Given the description of an element on the screen output the (x, y) to click on. 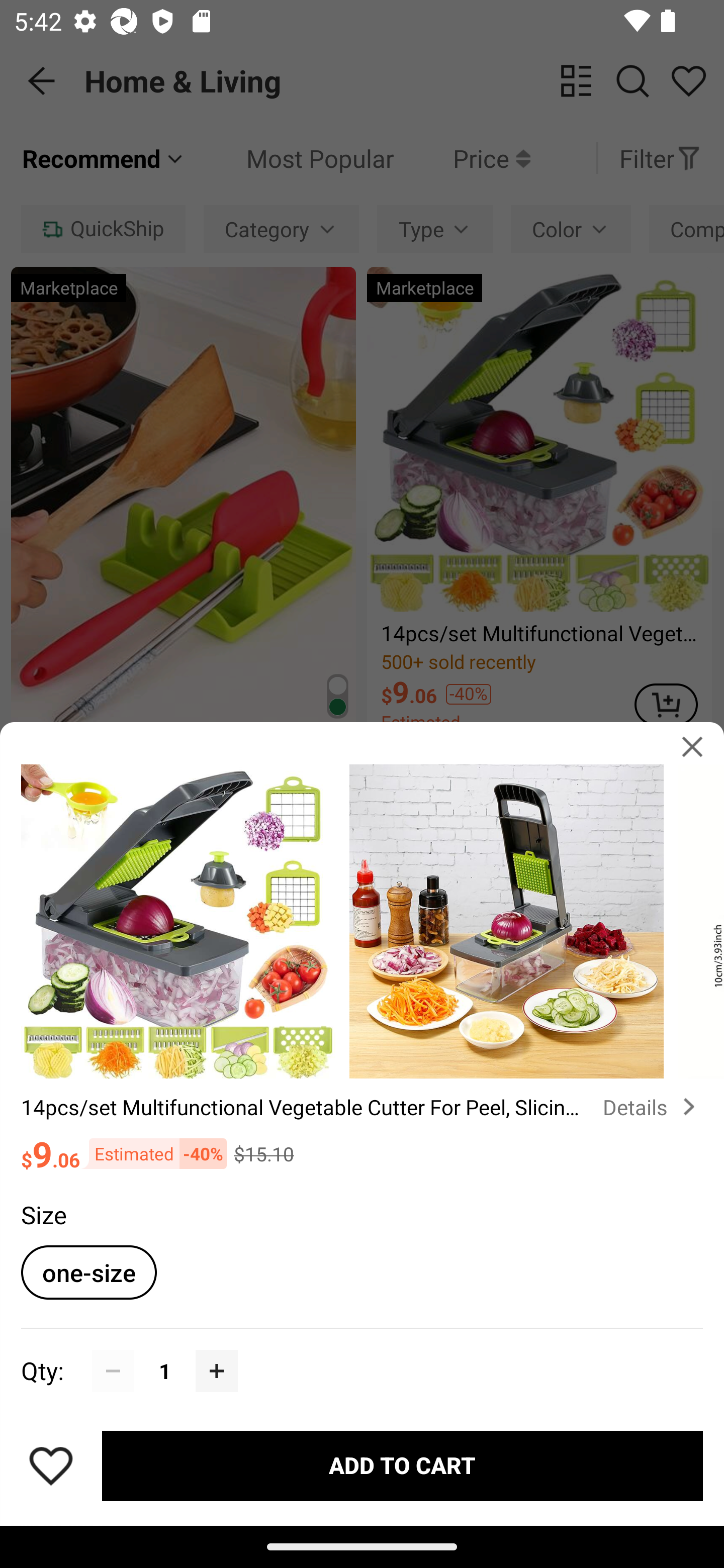
Details (653, 1106)
Estimated -40% (152, 1153)
Size (43, 1213)
one-size one-sizeselected option (88, 1271)
ADD TO CART (402, 1465)
Save (50, 1465)
